Given the description of an element on the screen output the (x, y) to click on. 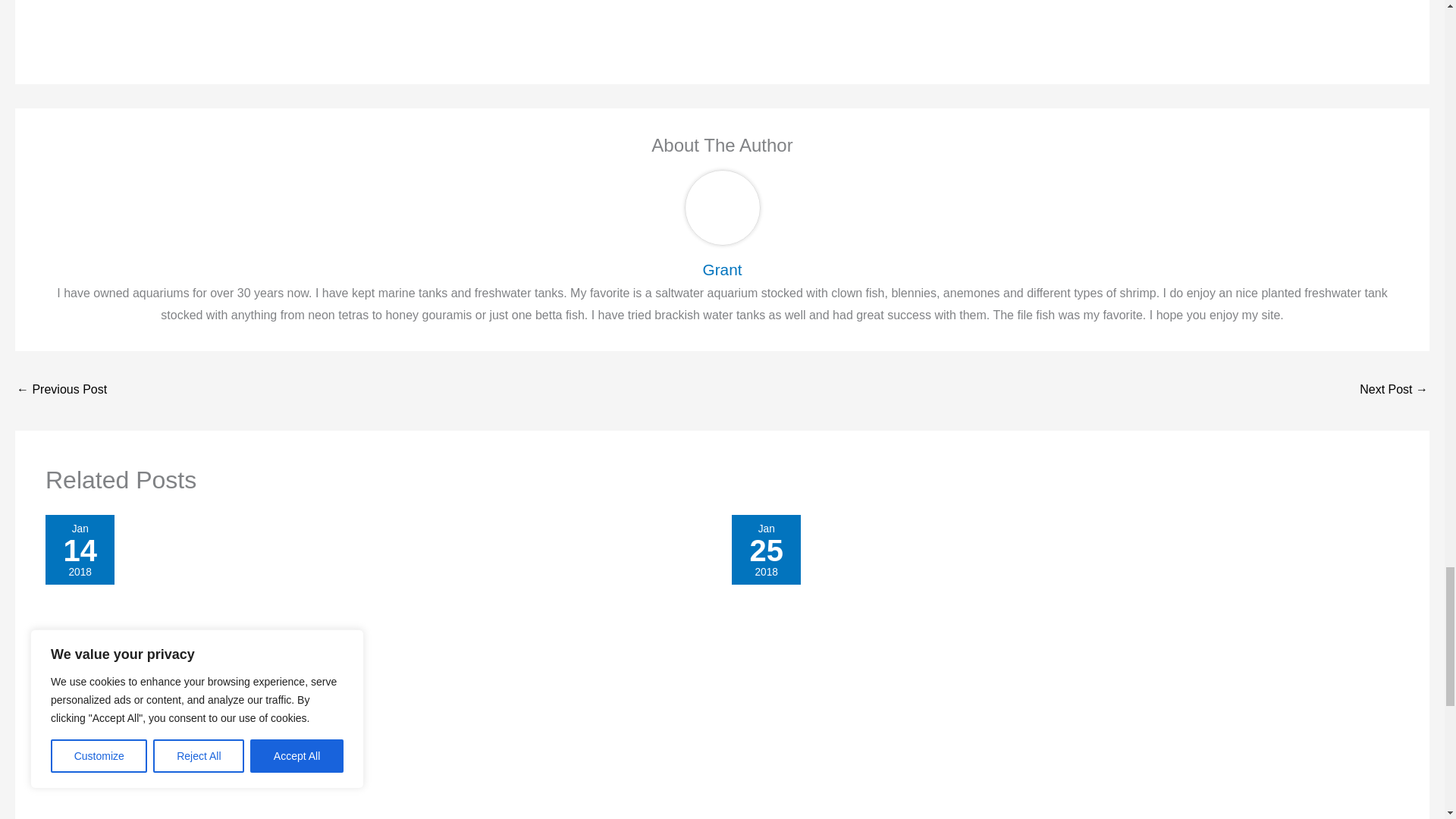
Are Legos Safe for Aquariums? (1393, 390)
